Given the description of an element on the screen output the (x, y) to click on. 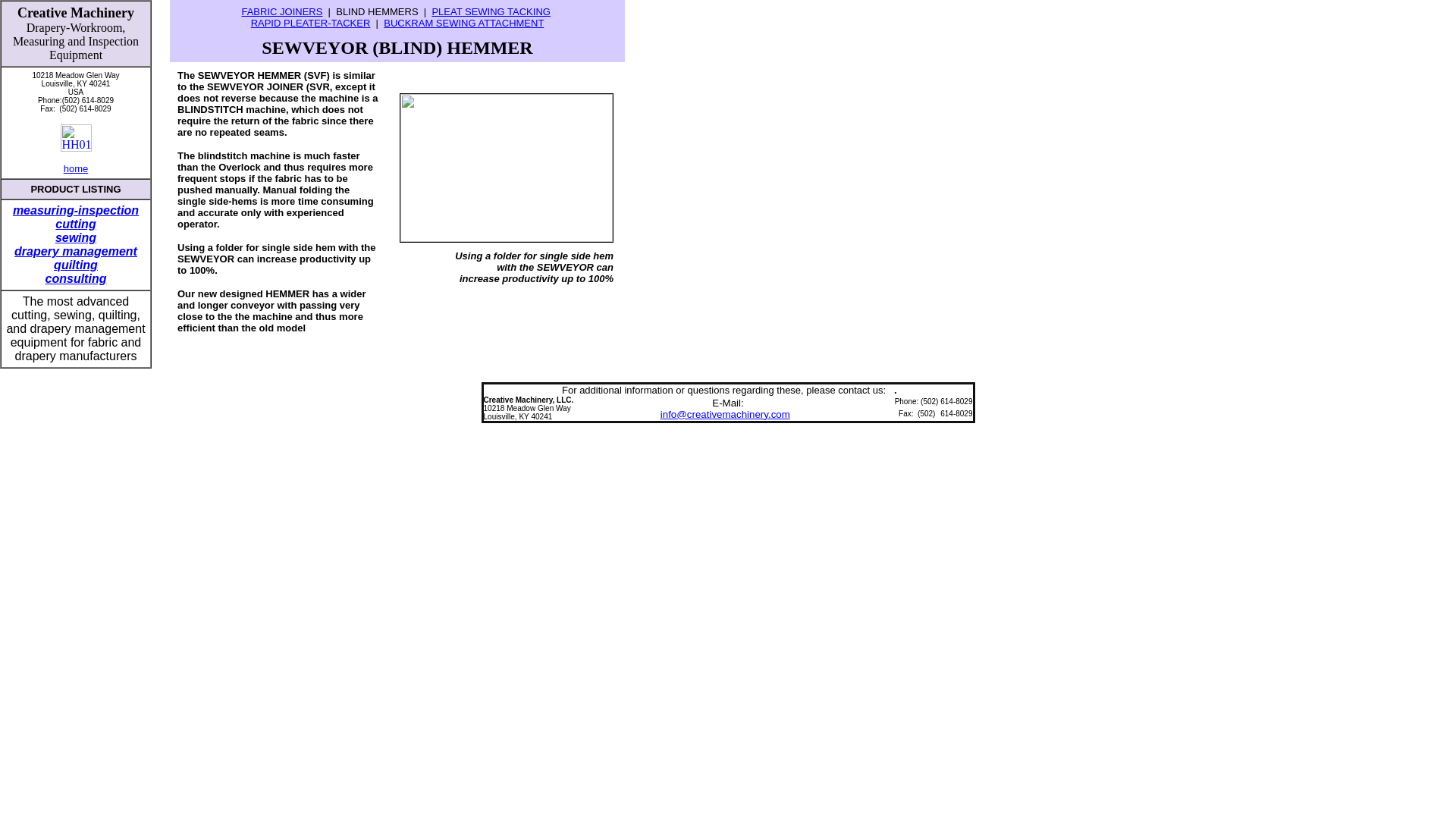
drapery management (75, 250)
consulting (75, 278)
cutting (75, 223)
BUCKRAM SEWING ATTACHMENT (463, 21)
quilting (75, 264)
FABRIC JOINERS (281, 11)
PLEAT SEWING TACKING (490, 11)
sewing (75, 237)
measuring-inspection (75, 210)
RAPID PLEATER-TACKER (310, 21)
